Given the description of an element on the screen output the (x, y) to click on. 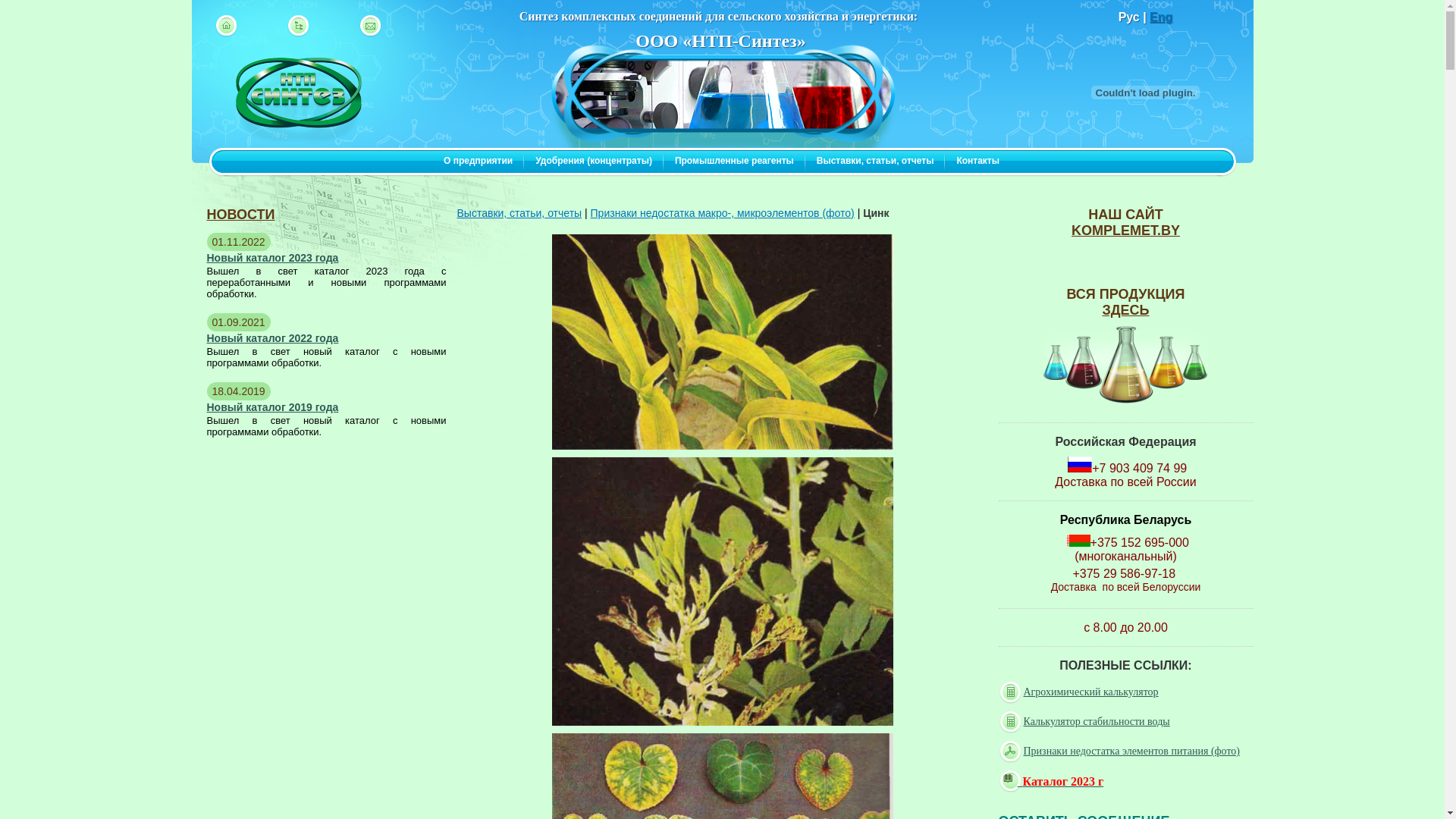
KOMPLEMET.BY Element type: text (1124, 230)
Eng Element type: text (1160, 16)
